Given the description of an element on the screen output the (x, y) to click on. 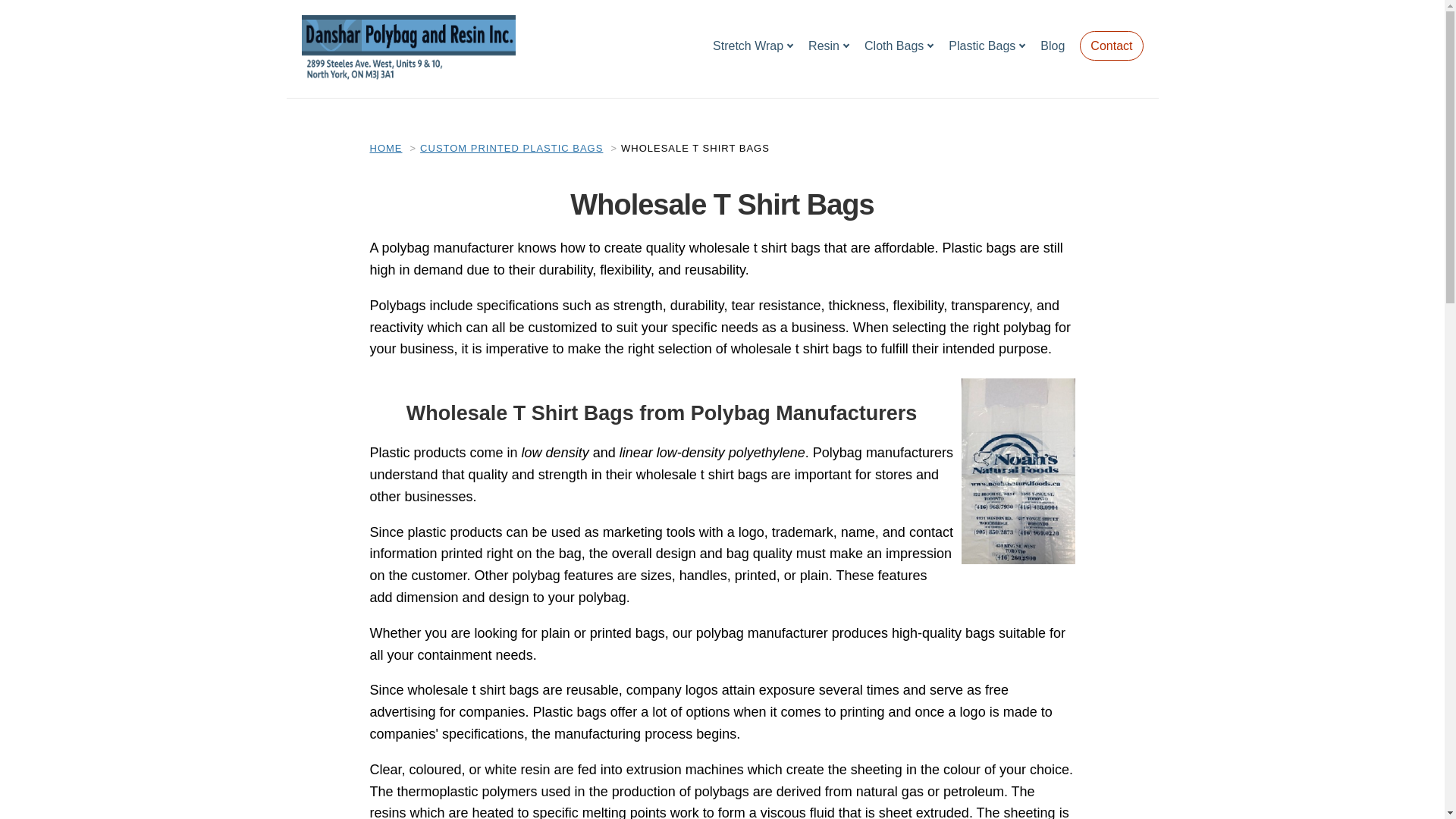
MY WEBSITE (408, 48)
HOME (386, 147)
CUSTOM PRINTED PLASTIC BAGS (511, 147)
Contact (1111, 44)
Blog (1052, 45)
